Given the description of an element on the screen output the (x, y) to click on. 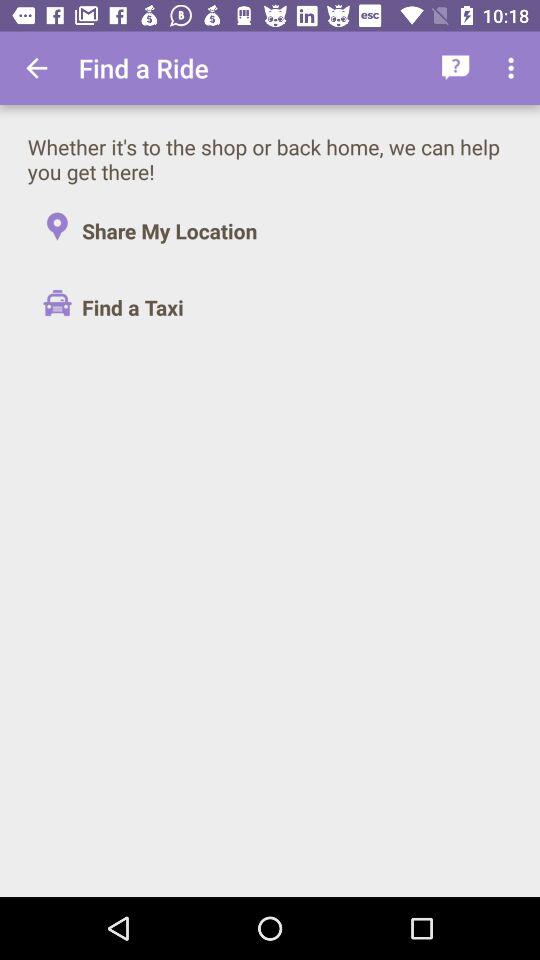
launch icon above whether it s item (513, 67)
